Given the description of an element on the screen output the (x, y) to click on. 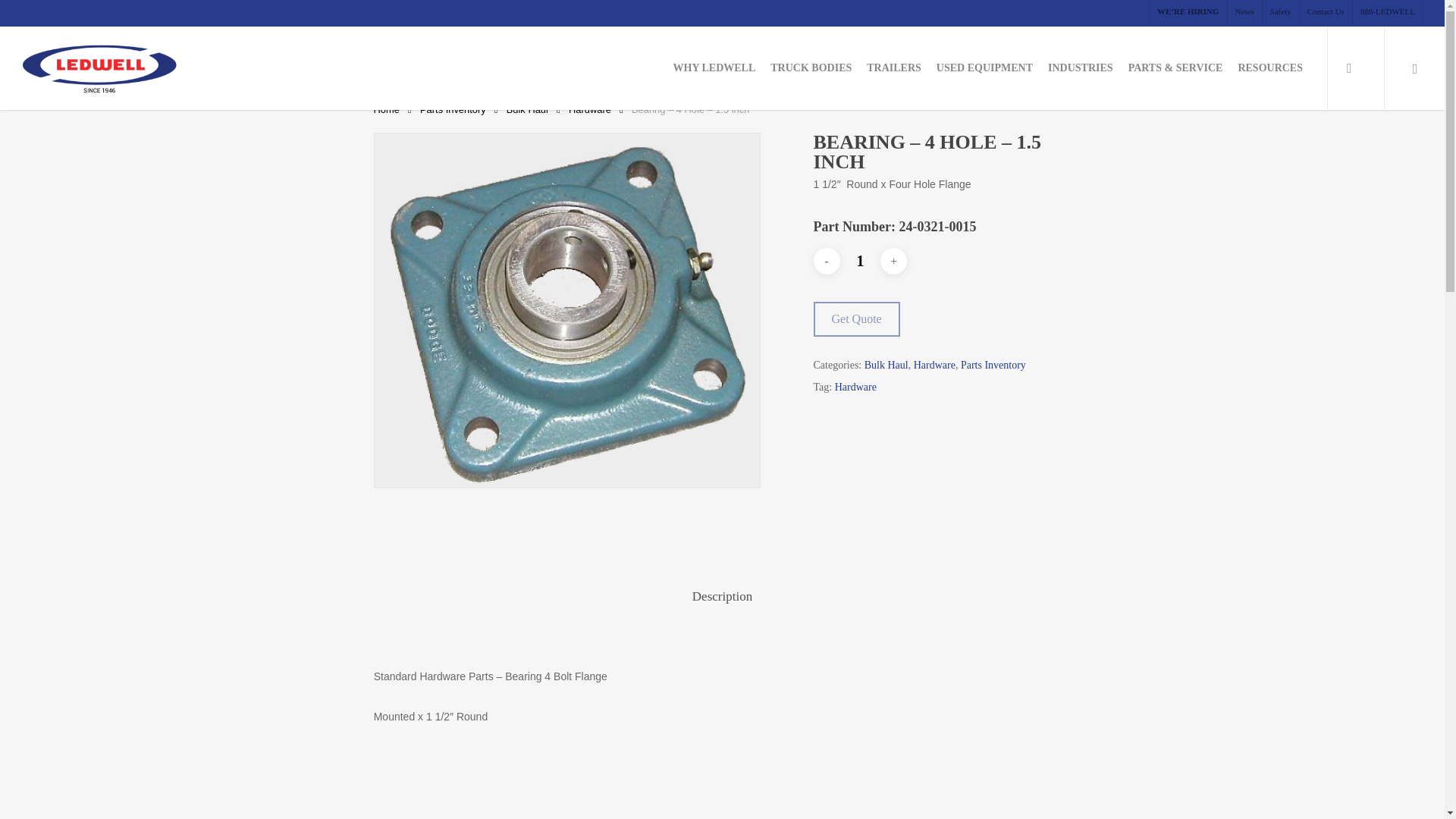
Contact Us (1325, 11)
TRUCK BODIES (810, 68)
1 (860, 261)
- (826, 261)
888-LEDWELL (1387, 11)
News (1244, 11)
Safety (1280, 11)
WHY LEDWELL (713, 68)
